Given the description of an element on the screen output the (x, y) to click on. 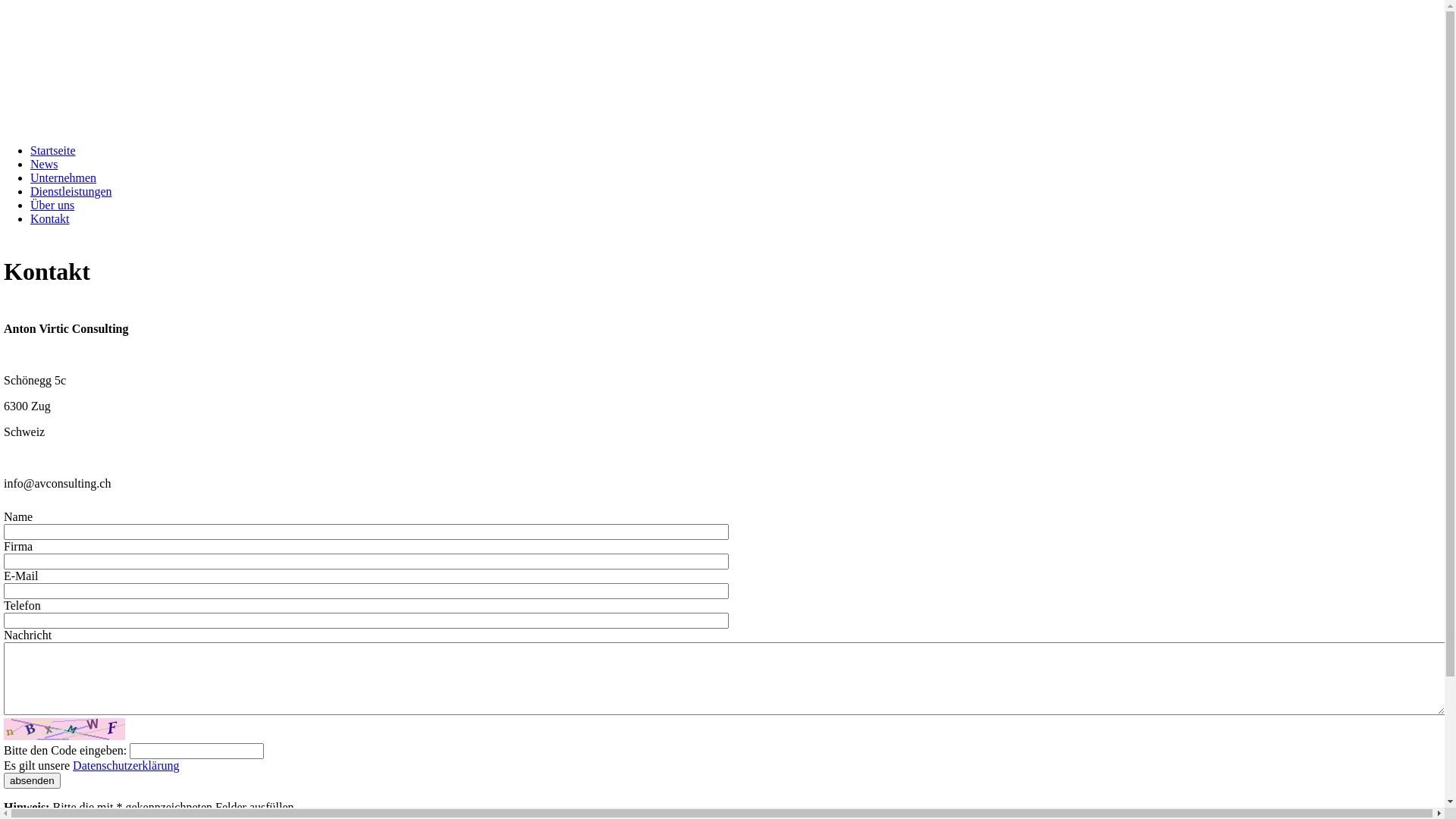
News Element type: text (43, 163)
Dienstleistungen Element type: text (71, 191)
Kontakt Element type: text (49, 218)
Startseite Element type: text (52, 150)
absenden Element type: text (31, 780)
Unternehmen Element type: text (63, 177)
